Given the description of an element on the screen output the (x, y) to click on. 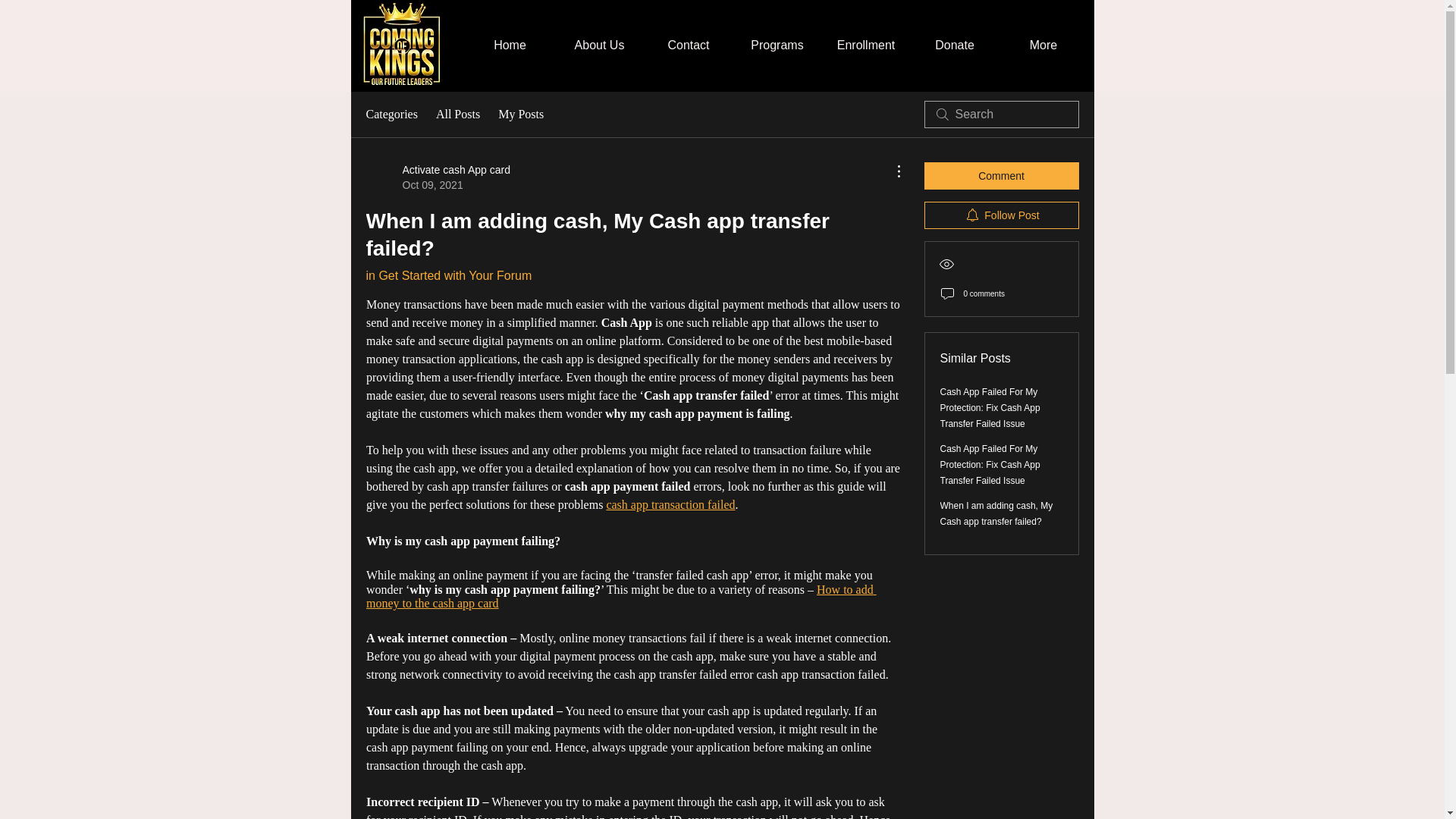
All Posts (457, 114)
Programs (776, 45)
How to add money to the cash app card (620, 596)
Home (509, 45)
When I am adding cash, My Cash app transfer failed? (996, 513)
Donate (954, 45)
My Posts (520, 114)
Contact (689, 45)
Categories (390, 114)
About Us (599, 45)
